Given the description of an element on the screen output the (x, y) to click on. 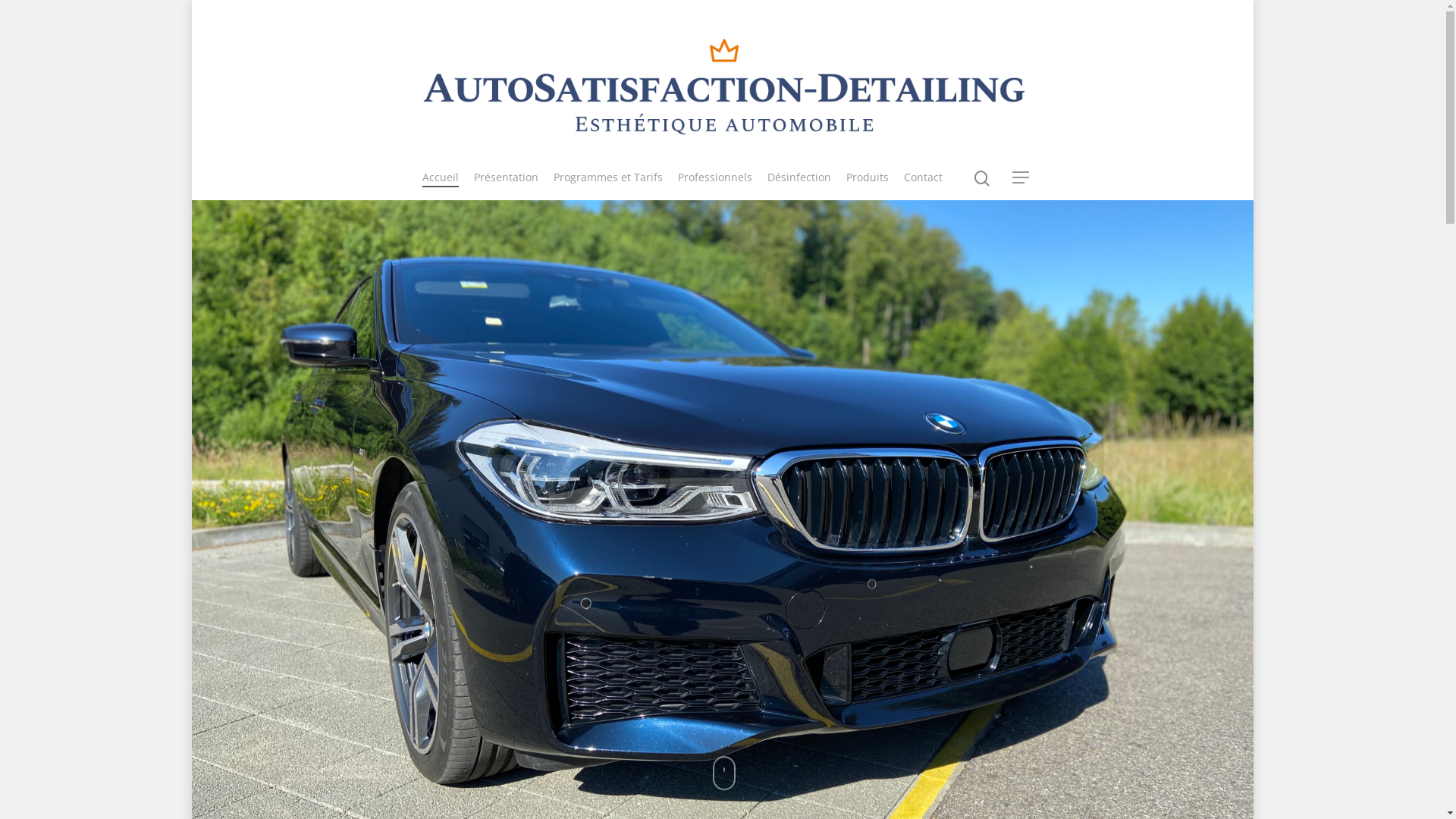
Professionnels Element type: text (714, 184)
Programmes et Tarifs Element type: text (607, 184)
Accueil Element type: text (439, 184)
Contact Element type: text (922, 184)
Produits Element type: text (867, 184)
